Given the description of an element on the screen output the (x, y) to click on. 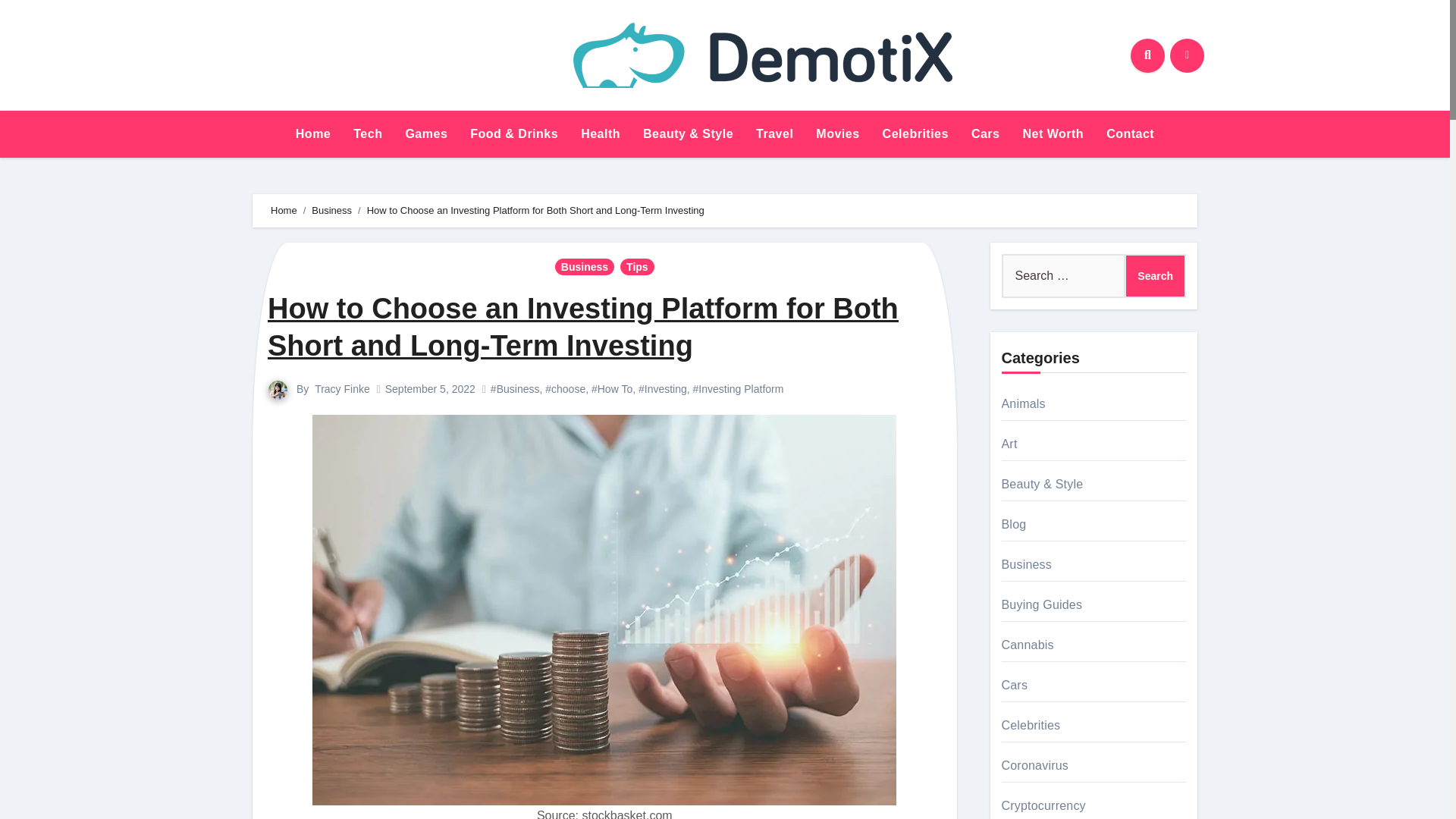
Travel (774, 133)
Celebrities (914, 133)
September 5, 2022 (430, 388)
Movies (837, 133)
Travel (774, 133)
Cars (985, 133)
Contact (1130, 133)
Tracy Finke (341, 388)
Search (1155, 275)
Contact (1130, 133)
